Given the description of an element on the screen output the (x, y) to click on. 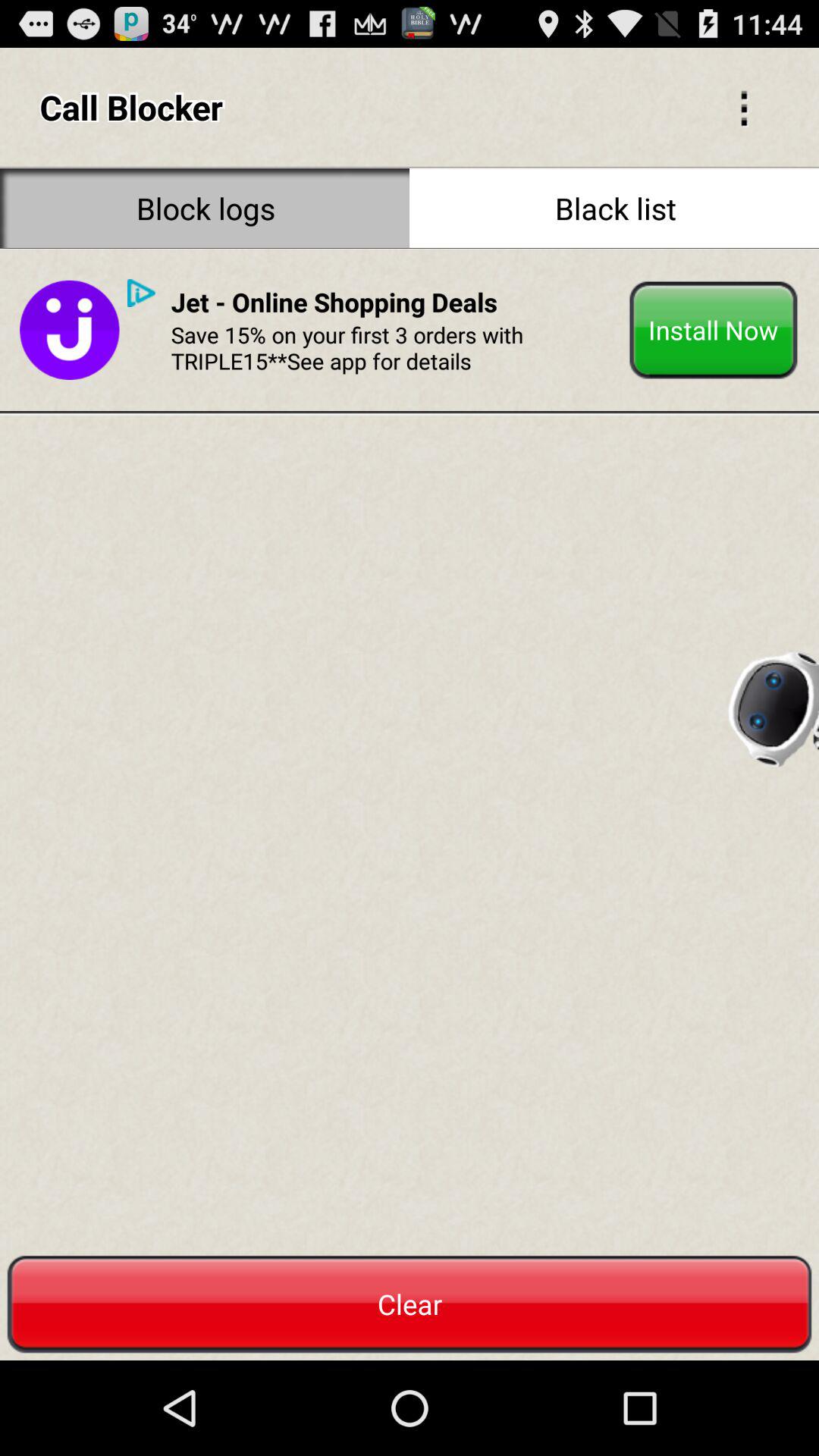
select icon above the clear icon (772, 703)
